Given the description of an element on the screen output the (x, y) to click on. 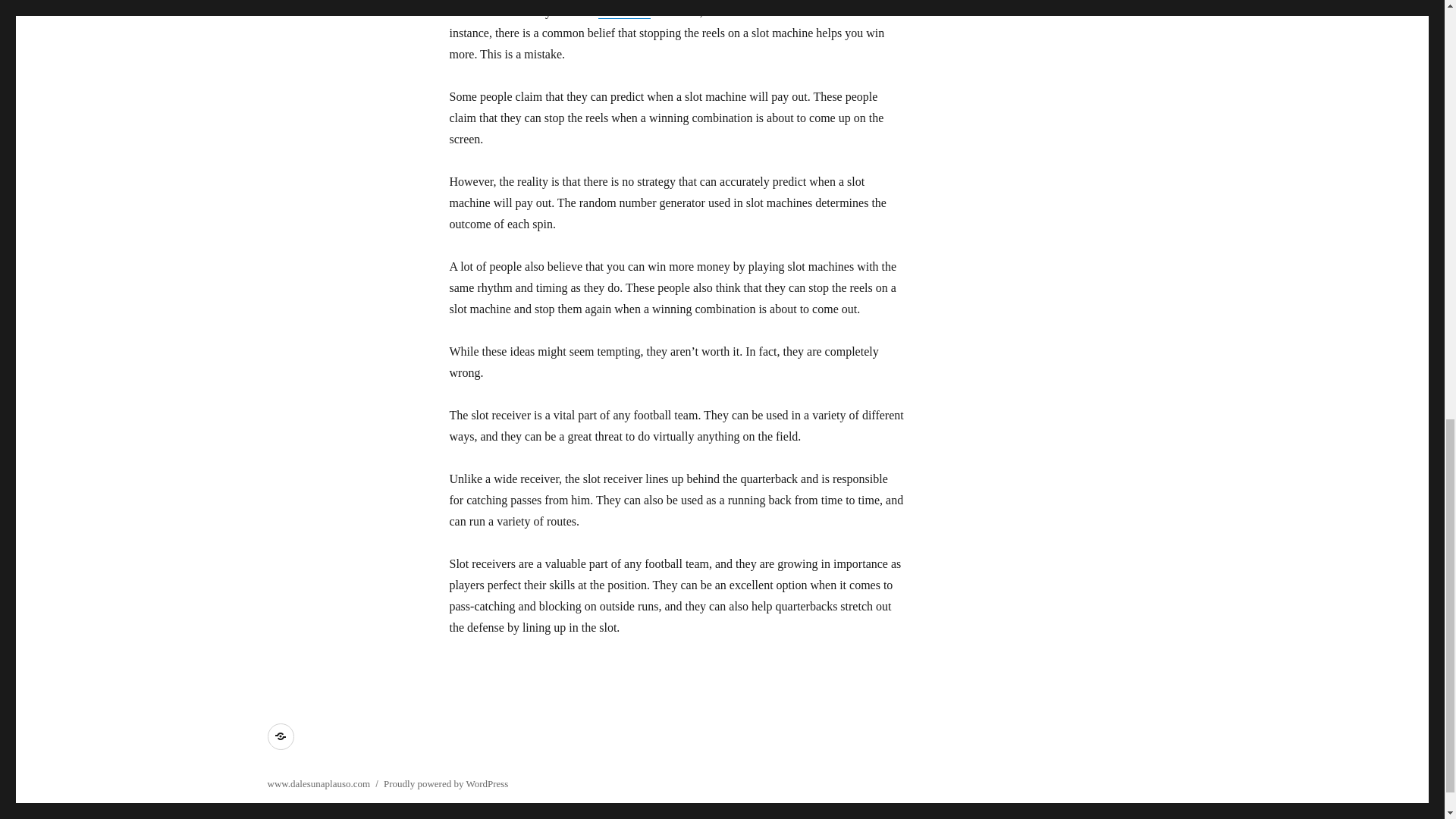
Demo Slot (624, 11)
